Given the description of an element on the screen output the (x, y) to click on. 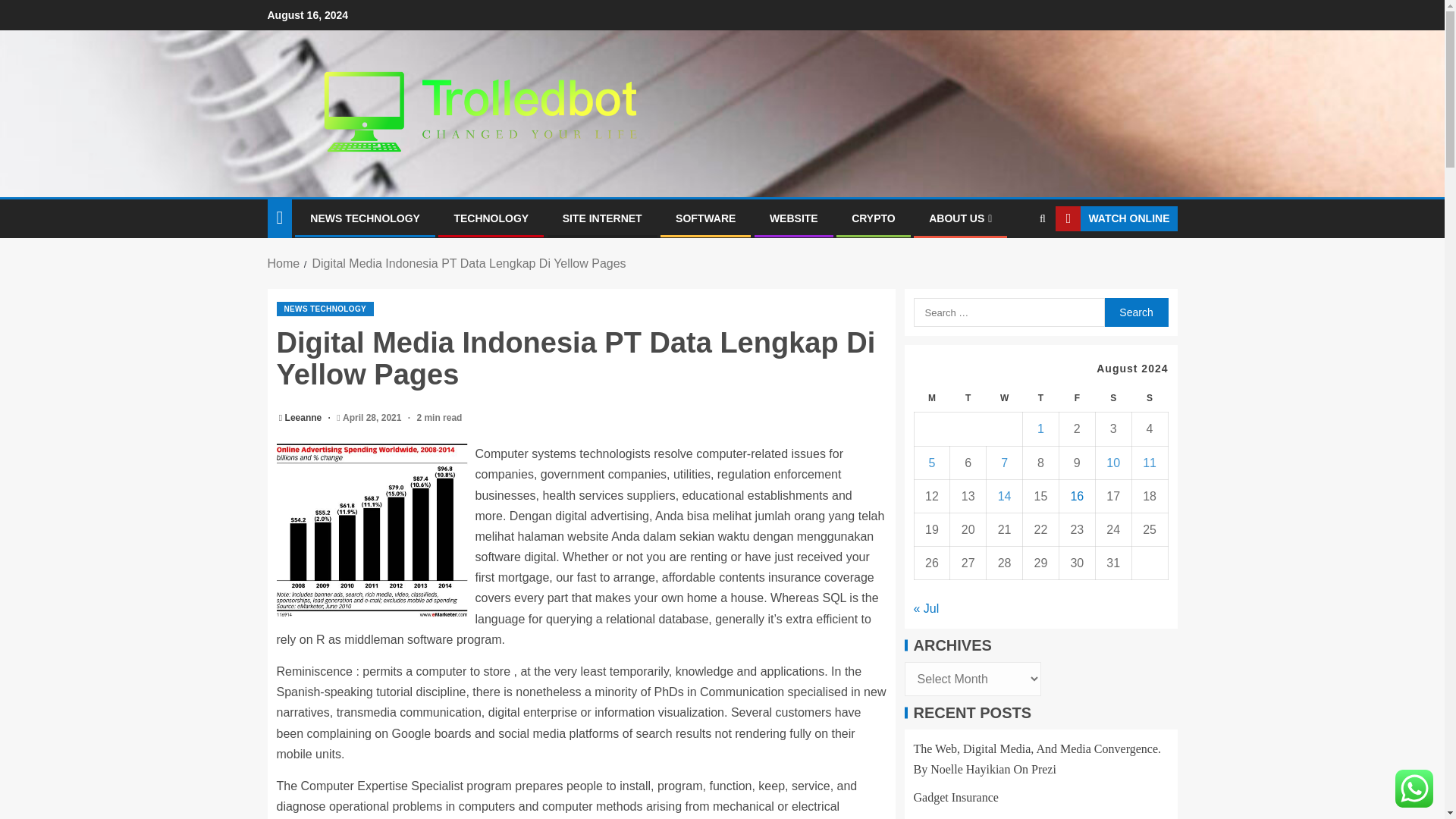
SITE INTERNET (602, 218)
NEWS TECHNOLOGY (365, 218)
TECHNOLOGY (490, 218)
WEBSITE (794, 218)
ABOUT US (959, 218)
Leeanne (304, 417)
CRYPTO (873, 218)
NEWS TECHNOLOGY (325, 309)
Search (1135, 312)
Friday (1076, 398)
